Given the description of an element on the screen output the (x, y) to click on. 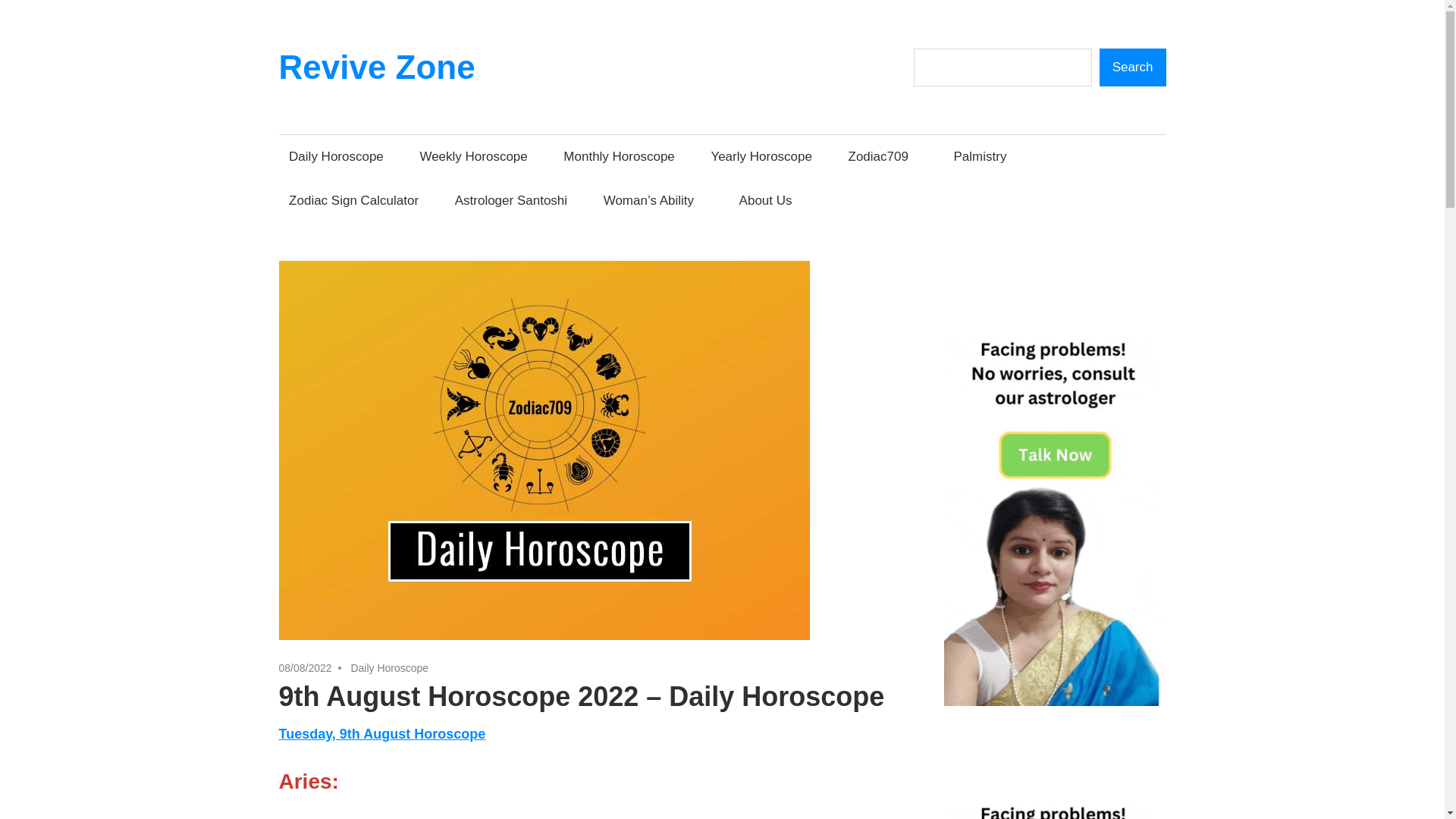
Zodiac Sign Calculator (354, 199)
Weekly Horoscope (473, 156)
Horoscope (448, 734)
Revive Zone (377, 66)
Search (1132, 67)
Zodiac709 (883, 156)
About Us (769, 199)
Palmistry (979, 156)
Daily Horoscope (336, 156)
Monthly Horoscope (619, 156)
Yearly Horoscope (761, 156)
7:19 pm (305, 667)
Tuesday, 9th August  (346, 734)
Daily Horoscope (389, 667)
Astrologer Santoshi (511, 199)
